Given the description of an element on the screen output the (x, y) to click on. 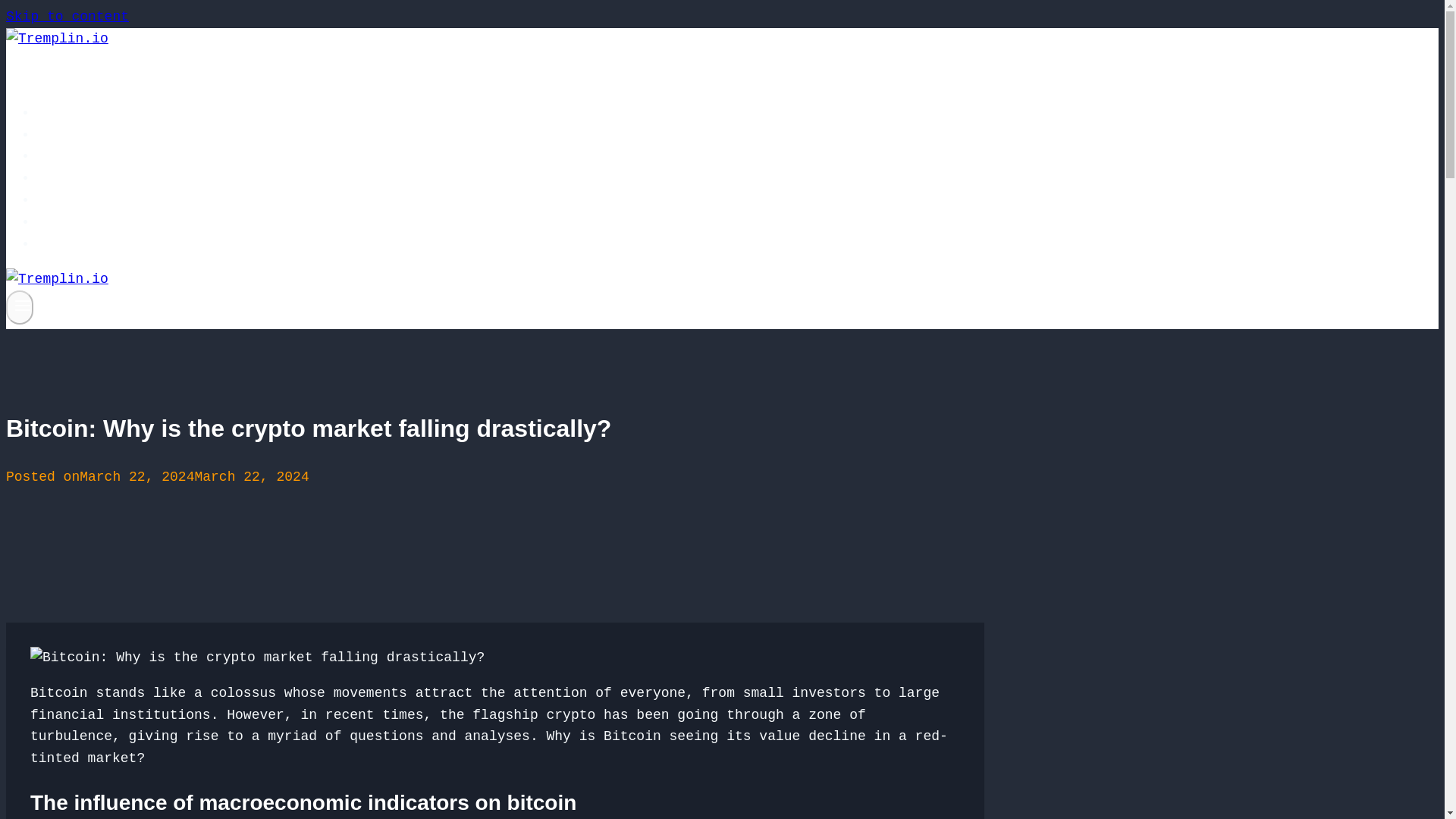
Consulting (90, 200)
Tremplin.io (95, 112)
FAQ (61, 178)
News (66, 222)
Skip to content (67, 16)
Toggle Menu (22, 305)
Contact (78, 244)
Who are we? (95, 156)
Services (82, 134)
